Given the description of an element on the screen output the (x, y) to click on. 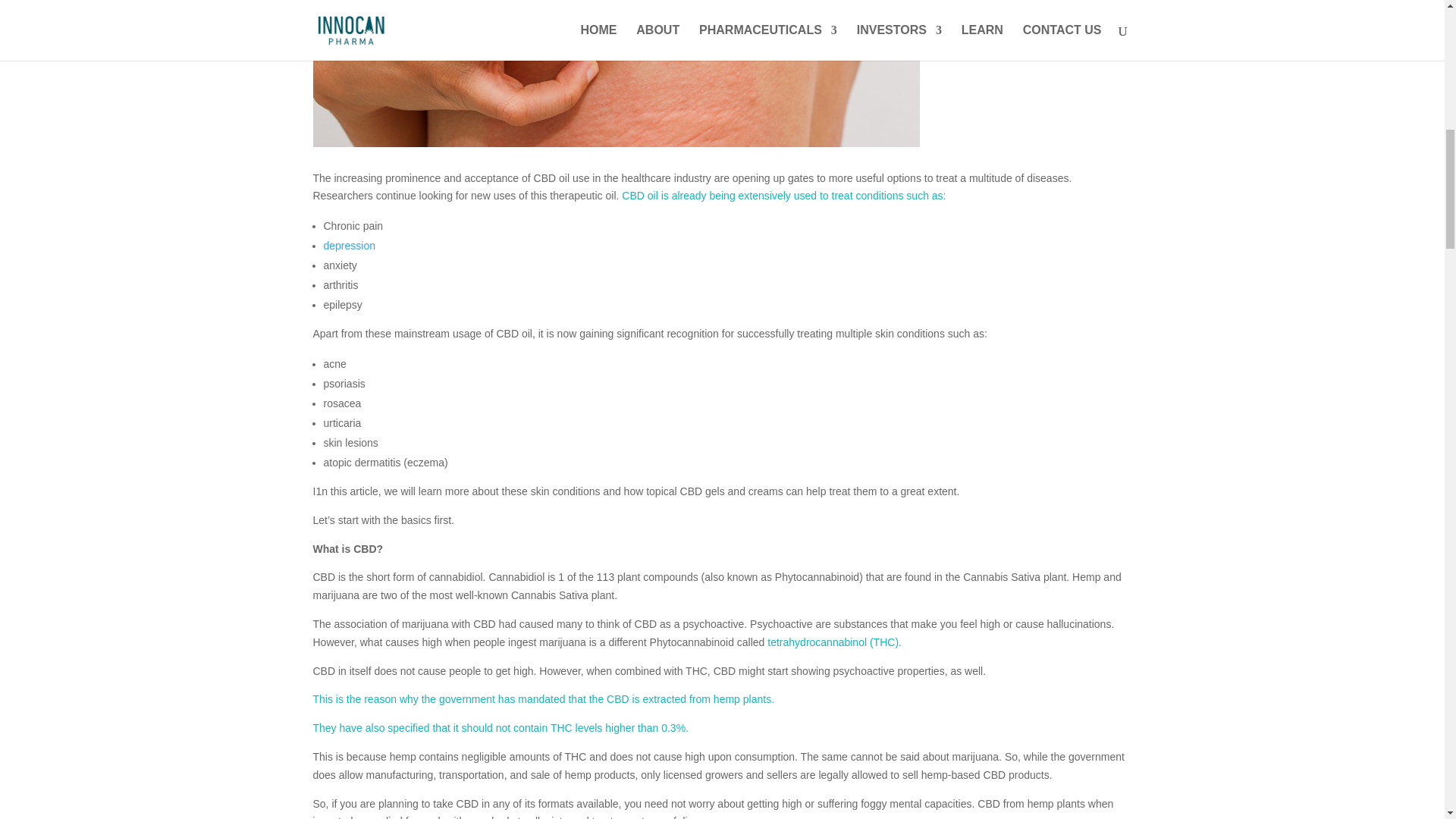
depression (349, 245)
